Given the description of an element on the screen output the (x, y) to click on. 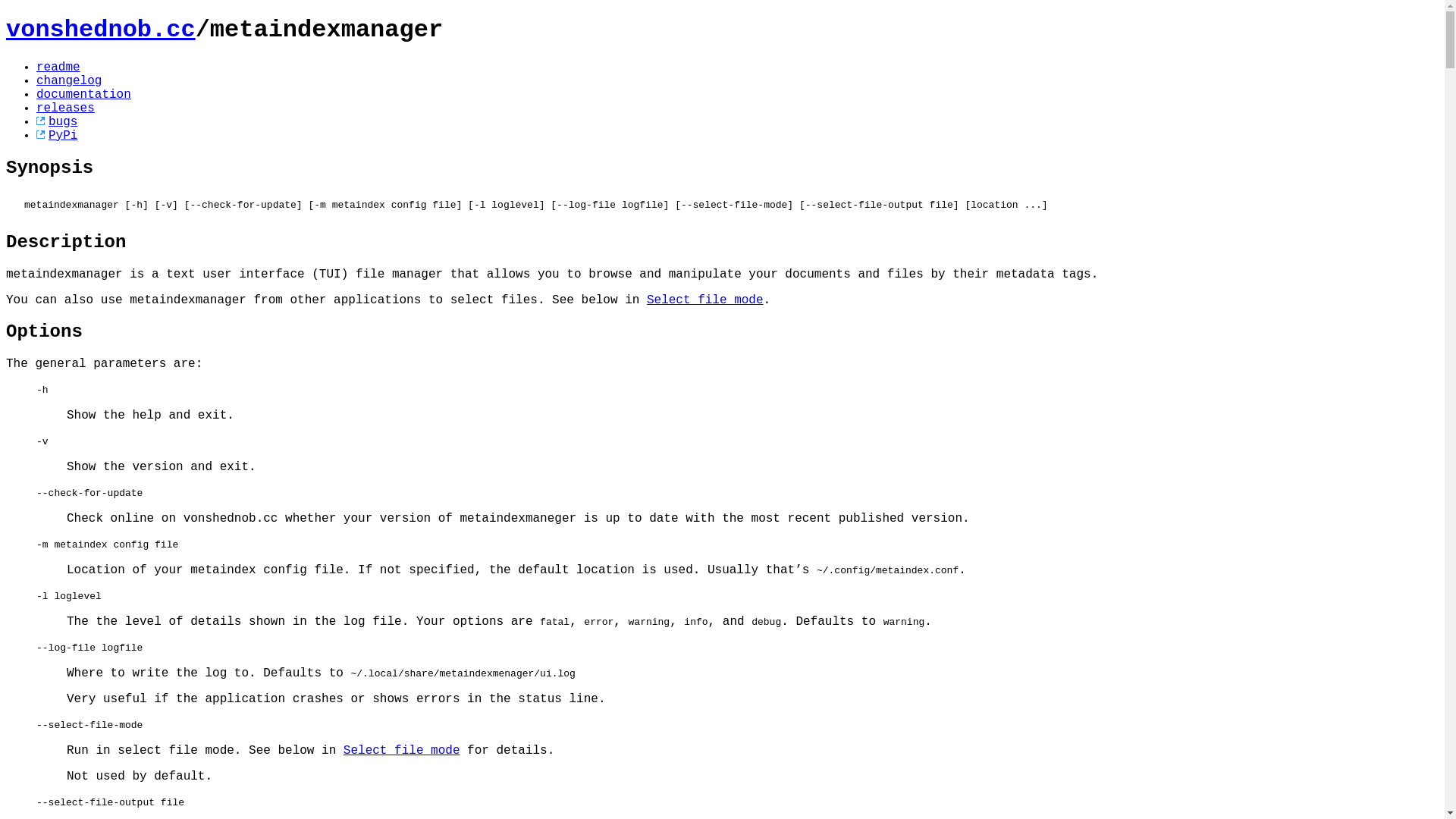
readme Element type: text (58, 67)
vonshednob.cc Element type: text (100, 29)
changelog Element type: text (68, 80)
documentation Element type: text (83, 94)
releases Element type: text (65, 108)
Select file mode Element type: text (704, 299)
Select file mode Element type: text (401, 750)
PyPi Element type: text (56, 135)
bugs Element type: text (56, 121)
